Given the description of an element on the screen output the (x, y) to click on. 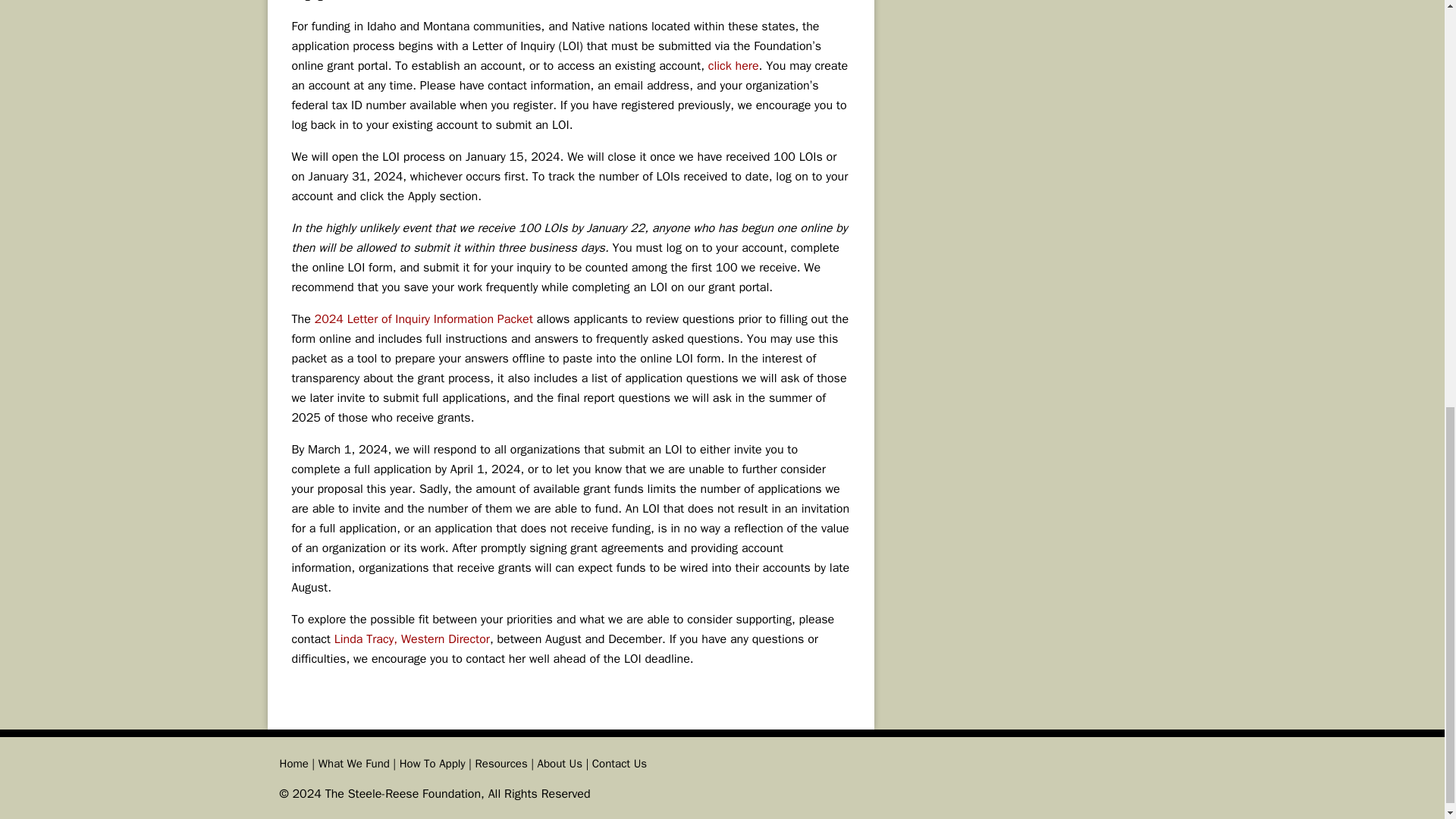
Home (293, 763)
click here (732, 65)
2024 Letter of Inquiry Information Packet (423, 319)
Linda Tracy, Western Director (411, 639)
